Given the description of an element on the screen output the (x, y) to click on. 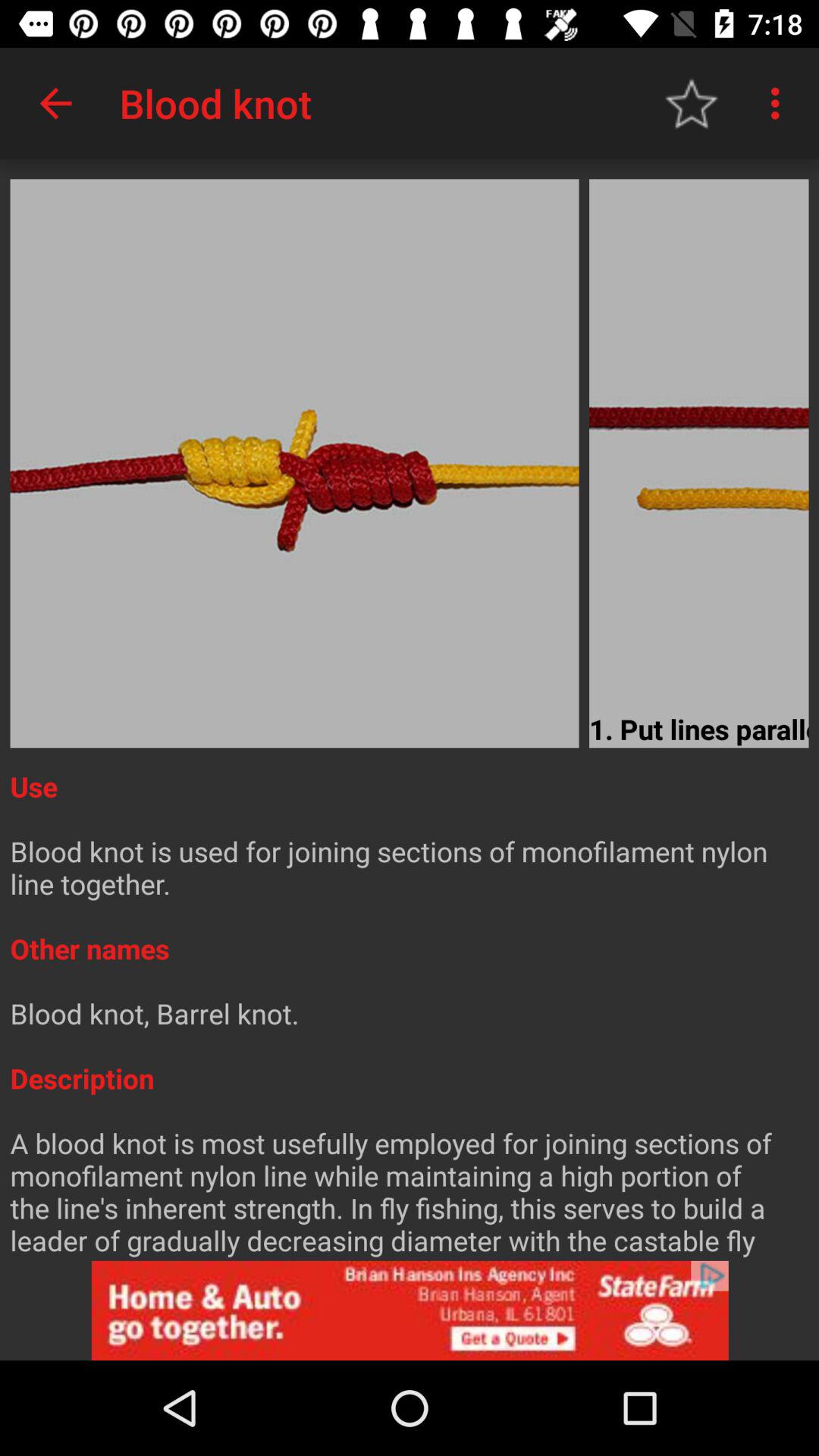
advertisement (409, 1310)
